Given the description of an element on the screen output the (x, y) to click on. 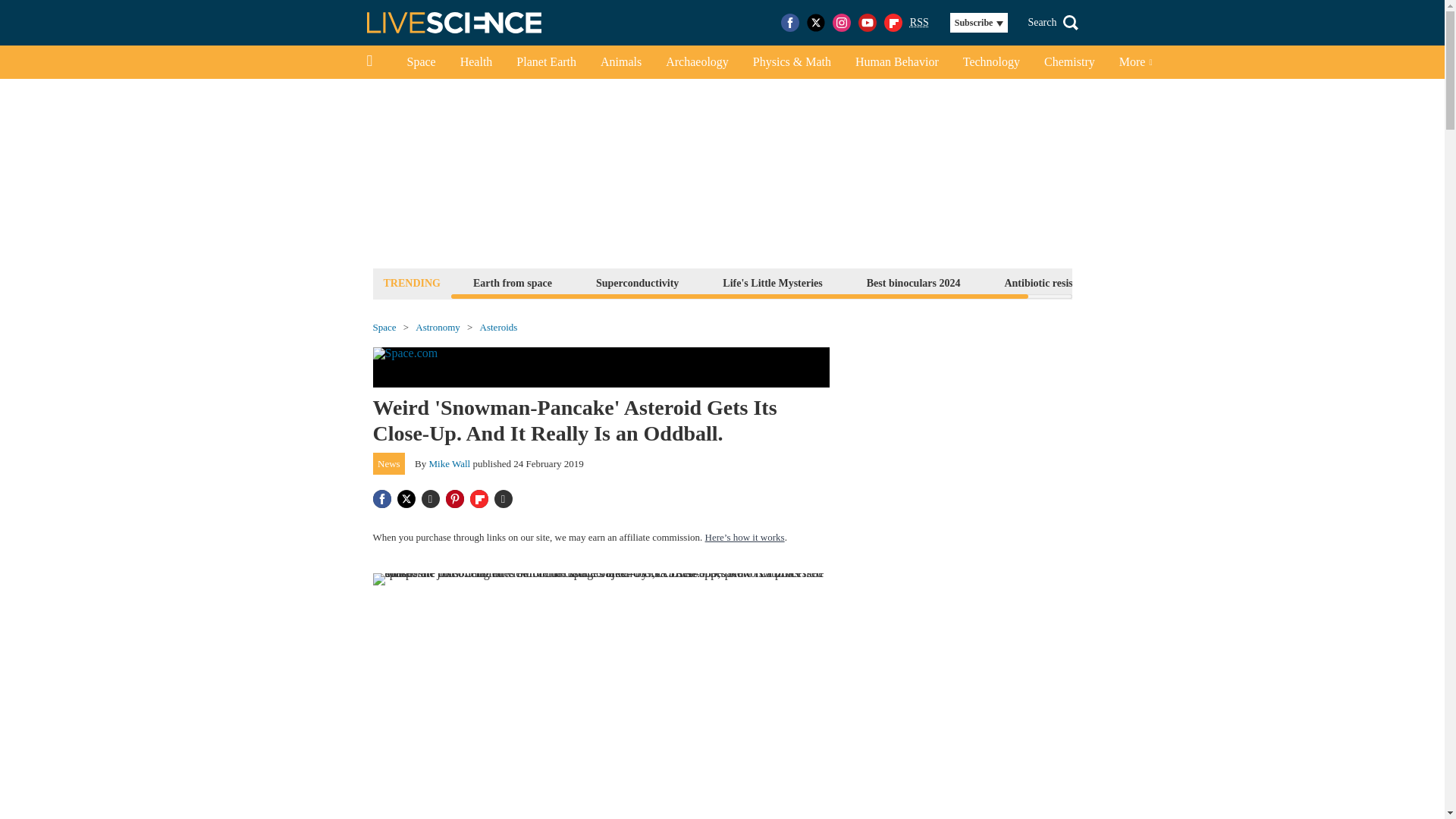
Chemistry (1069, 61)
Archaeology (697, 61)
Animals (620, 61)
Mike Wall (449, 463)
Space (420, 61)
Astronomy (437, 327)
News (389, 463)
Asteroids (499, 327)
Human Behavior (896, 61)
Technology (991, 61)
